Given the description of an element on the screen output the (x, y) to click on. 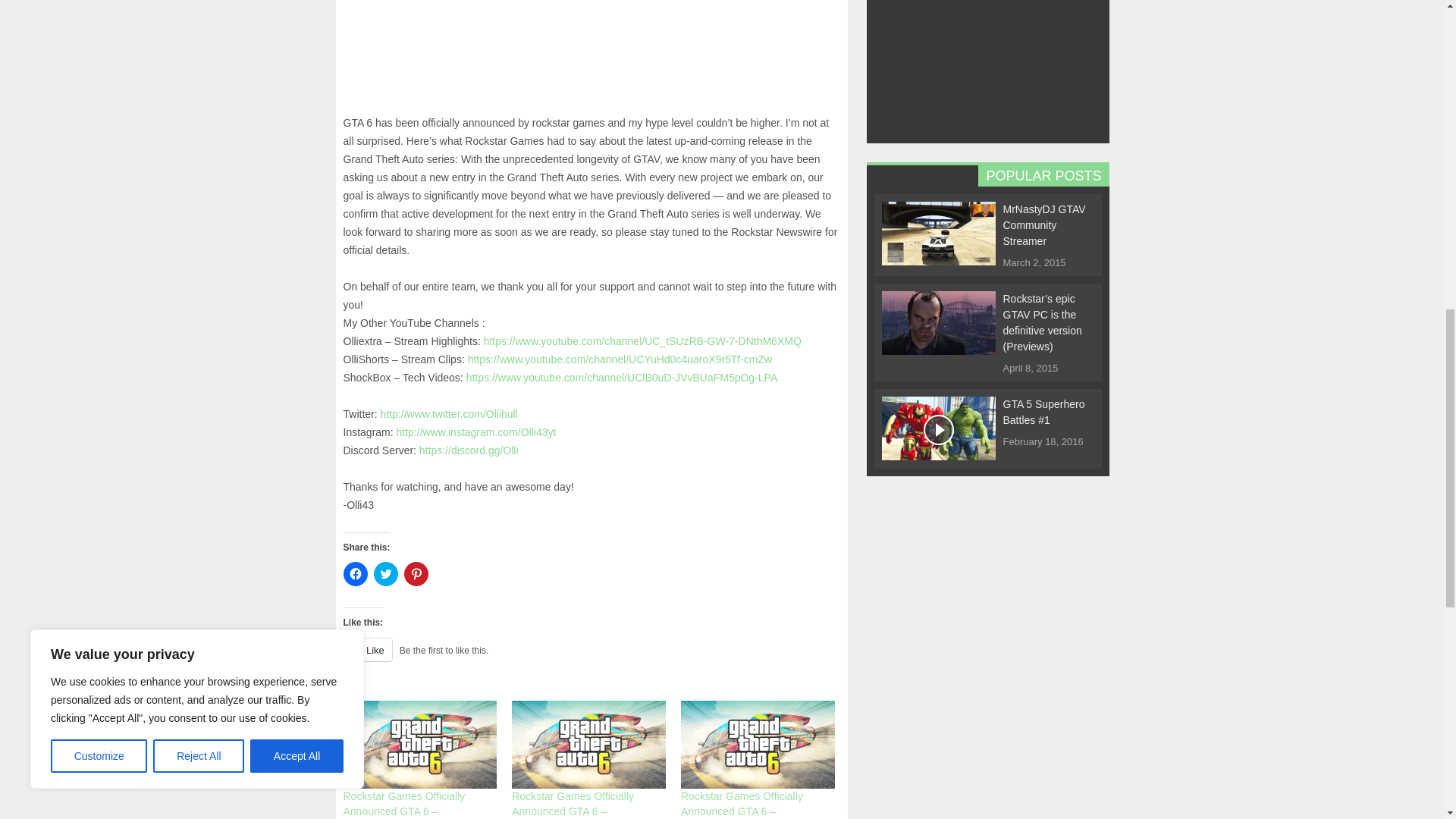
Click to share on Facebook (354, 573)
Click to share on Pinterest (415, 573)
Like or Reblog (591, 658)
Click to share on Twitter (384, 573)
